Given the description of an element on the screen output the (x, y) to click on. 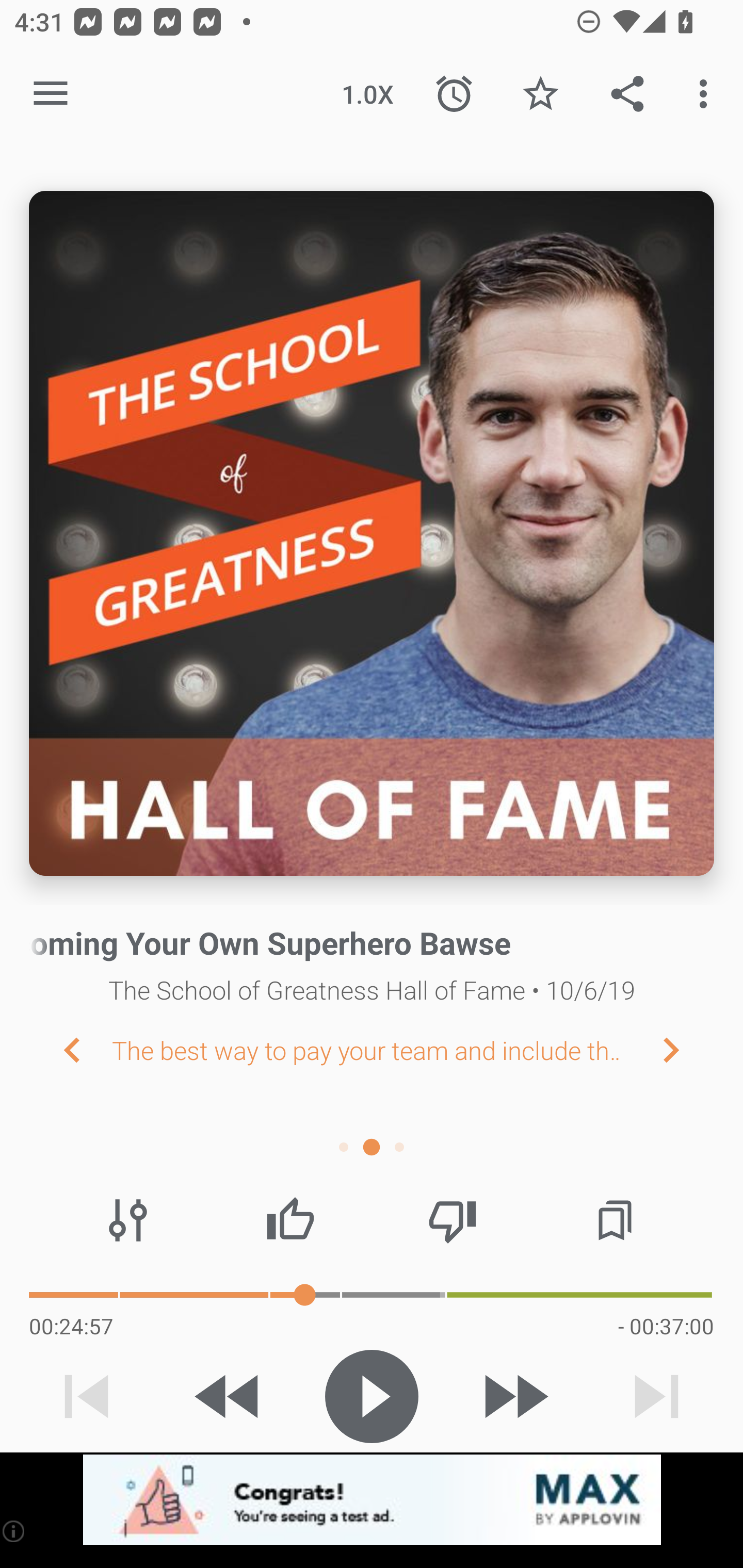
Open navigation sidebar (50, 93)
1.0X (366, 93)
Sleep Timer (453, 93)
Favorite (540, 93)
Share (626, 93)
More options (706, 93)
Episode description (371, 533)
Previous Chapter (56, 1049)
Next Chapter (686, 1049)
Audio effects (127, 1220)
Thumbs up (290, 1220)
Thumbs down (452, 1220)
Chapters / Bookmarks (614, 1220)
- 00:37:00 (666, 1325)
Previous track (86, 1395)
Skip 15s backward (228, 1395)
Play / Pause (371, 1395)
Skip 30s forward (513, 1395)
Next track (656, 1395)
app-monetization (371, 1500)
(i) (14, 1531)
